Given the description of an element on the screen output the (x, y) to click on. 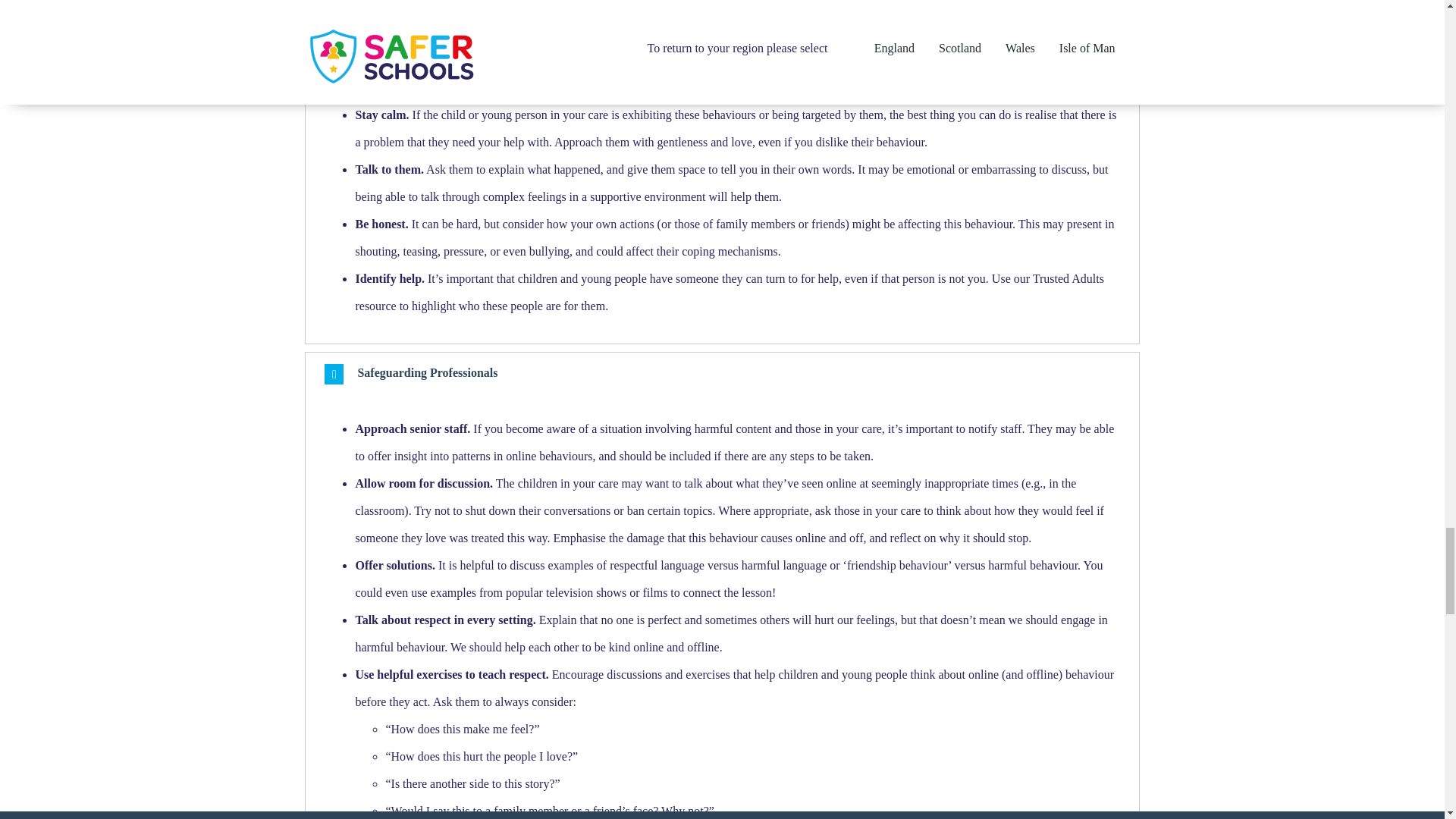
Safeguarding Professionals (721, 373)
Parents and Carers (721, 59)
